Given the description of an element on the screen output the (x, y) to click on. 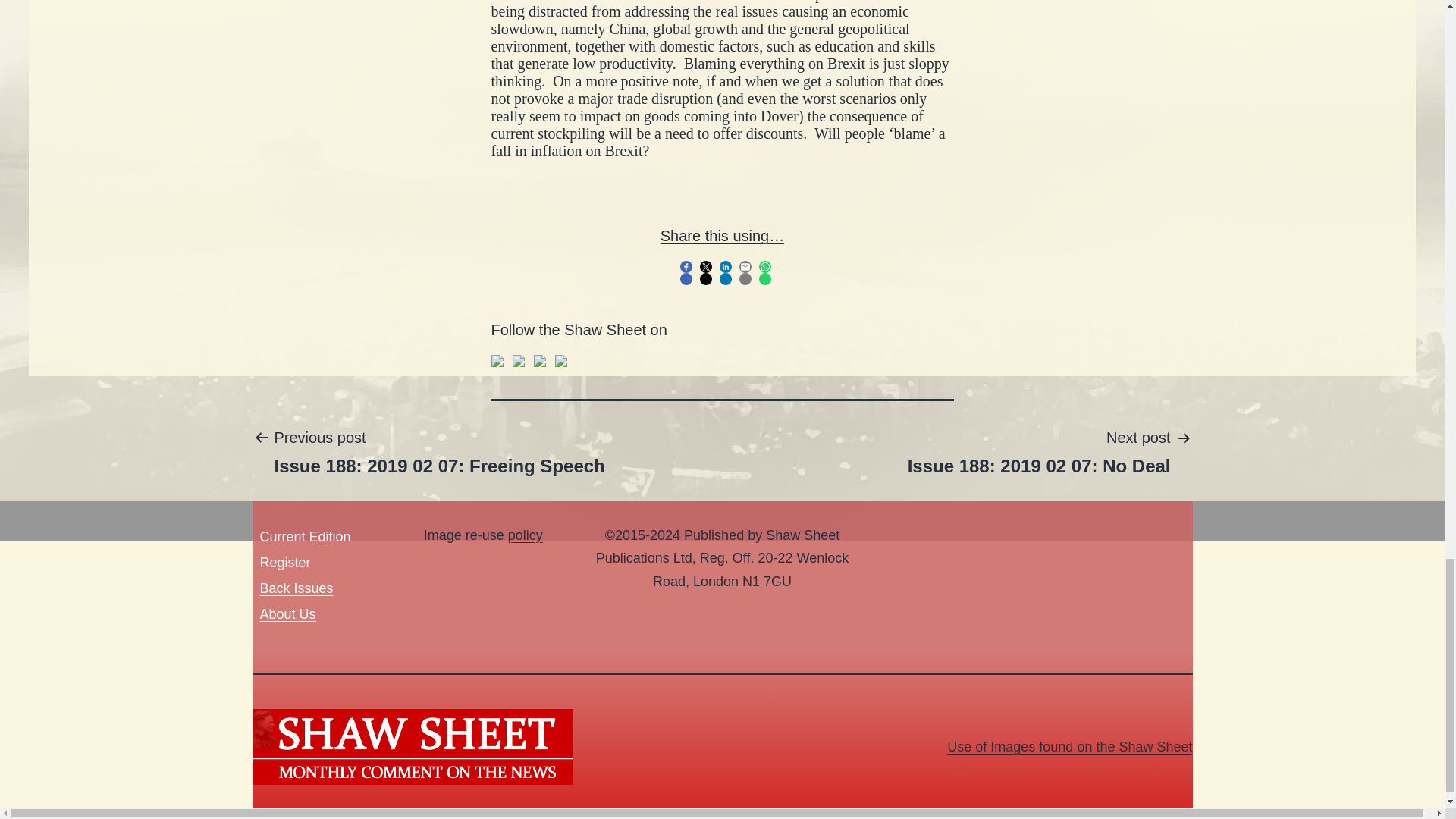
Register (1038, 451)
Follow us on Twitter (284, 562)
Use of Images found on the Shaw Sheet (438, 451)
About Us (518, 360)
Shaw Sheet board on Pinterest (1069, 746)
Find us on Linkedin (287, 613)
policy (540, 360)
Current Edition (560, 360)
